Given the description of an element on the screen output the (x, y) to click on. 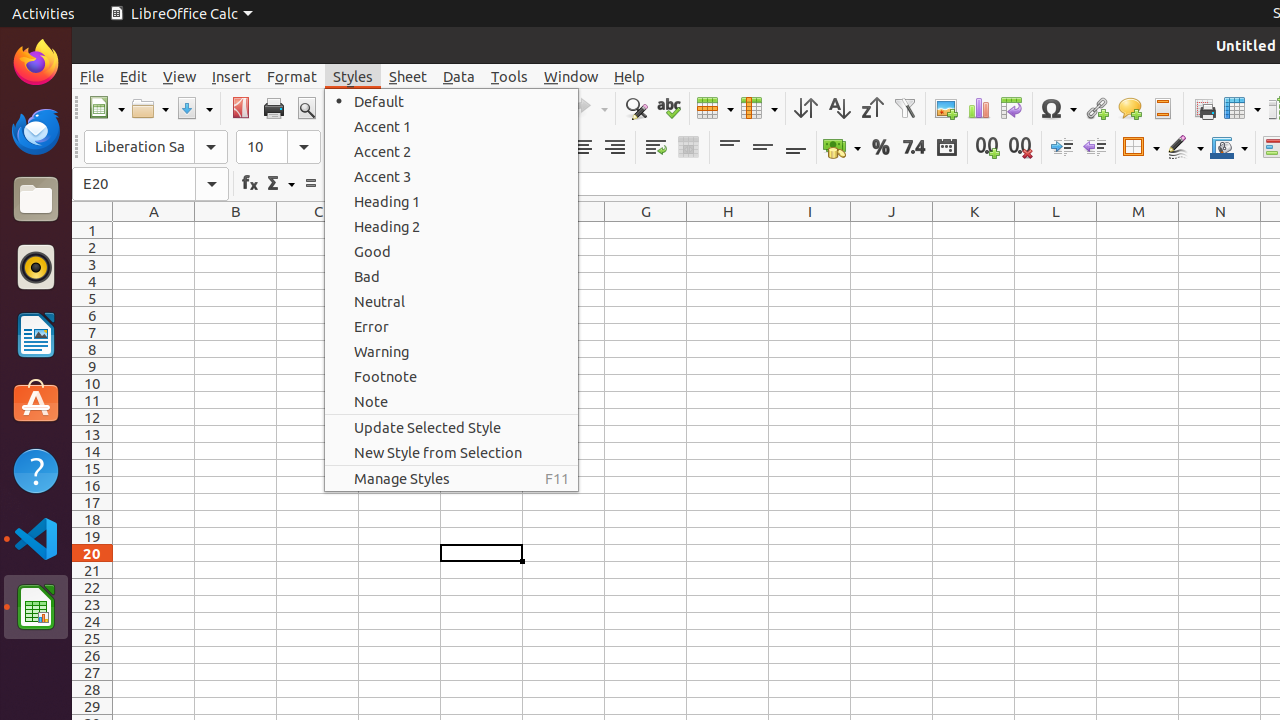
Window Element type: menu (571, 76)
Comment Element type: push-button (1129, 108)
Visual Studio Code Element type: push-button (36, 538)
Select Function Element type: push-button (280, 183)
Warning Element type: radio-menu-item (451, 351)
